Given the description of an element on the screen output the (x, y) to click on. 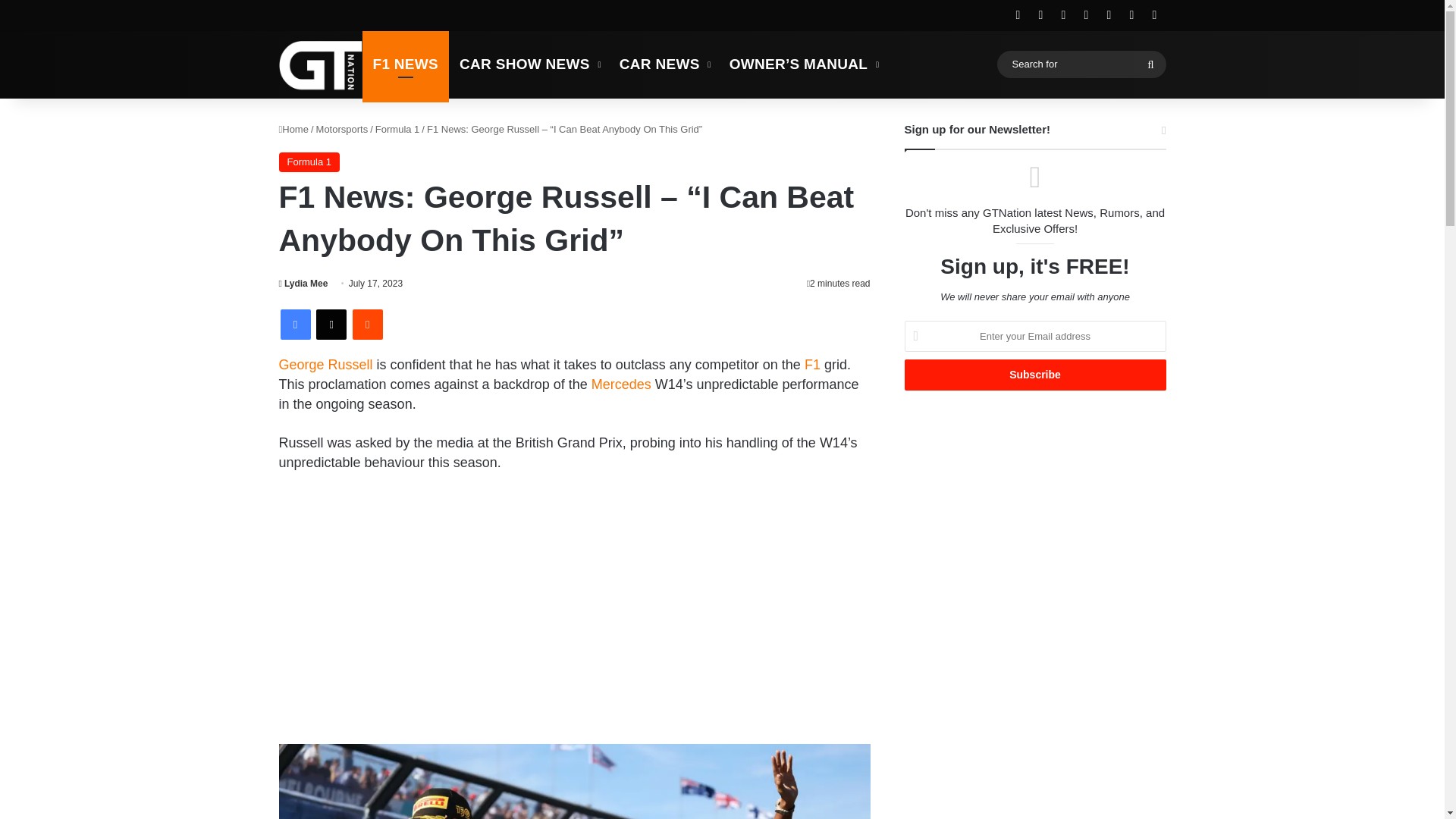
Search for (1080, 63)
Formula 1 (309, 161)
Facebook (296, 324)
Facebook (296, 324)
Grand Tour Nation (320, 64)
Formula 1 (397, 129)
CAR SHOW NEWS (528, 64)
X (330, 324)
Subscribe (1035, 374)
Reddit (367, 324)
